Given the description of an element on the screen output the (x, y) to click on. 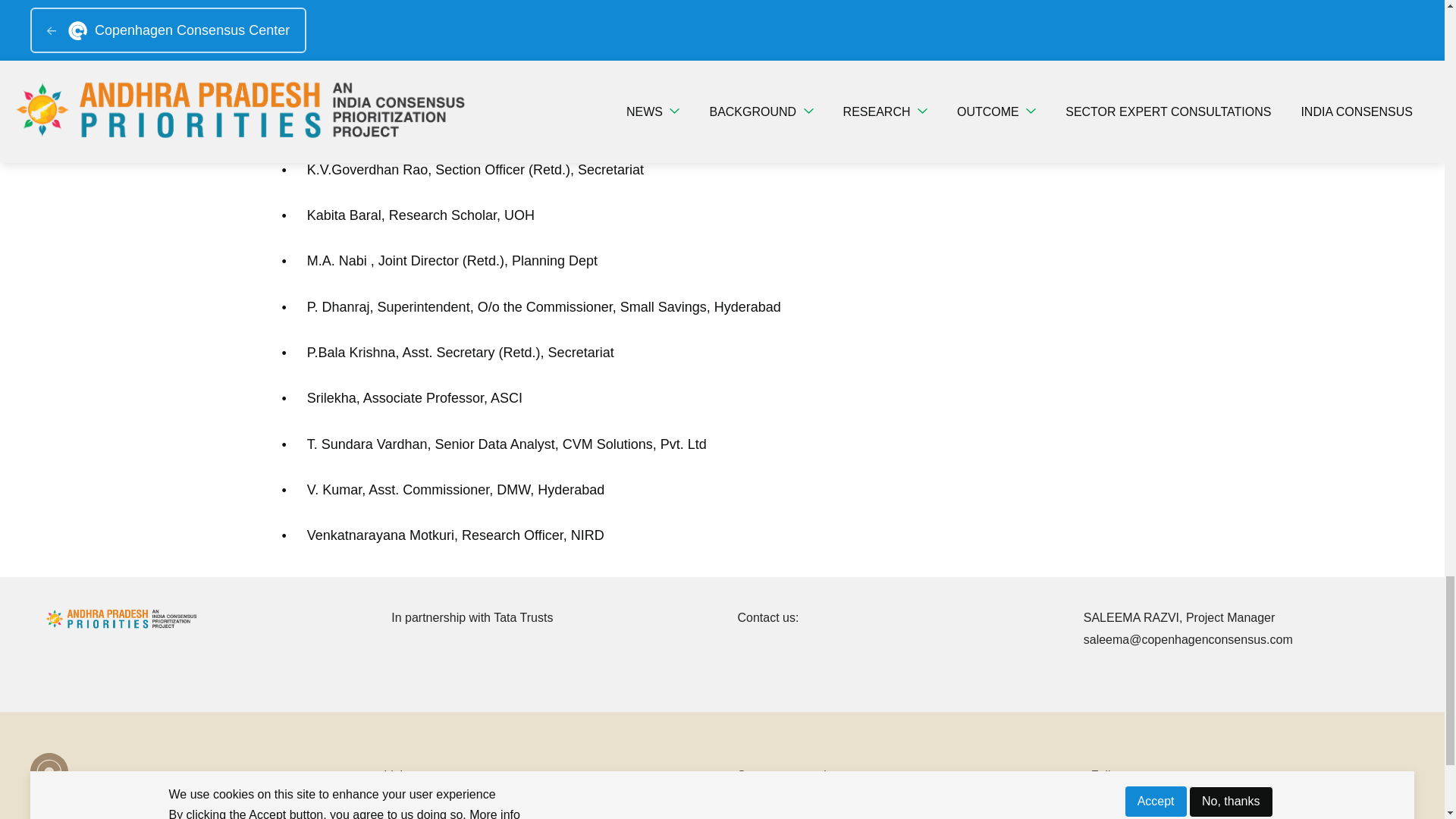
Facebook (1124, 817)
Home Copenhagen Consensus Center (488, 817)
